Given the description of an element on the screen output the (x, y) to click on. 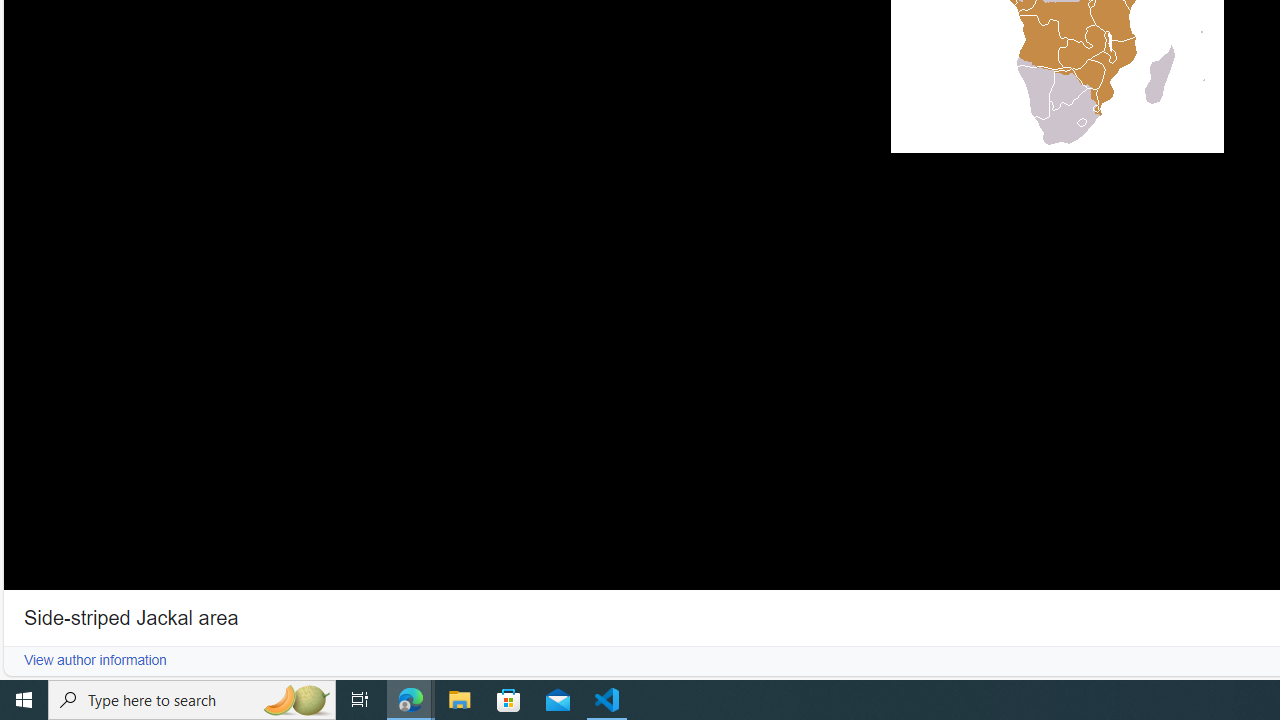
View author information (95, 660)
